Given the description of an element on the screen output the (x, y) to click on. 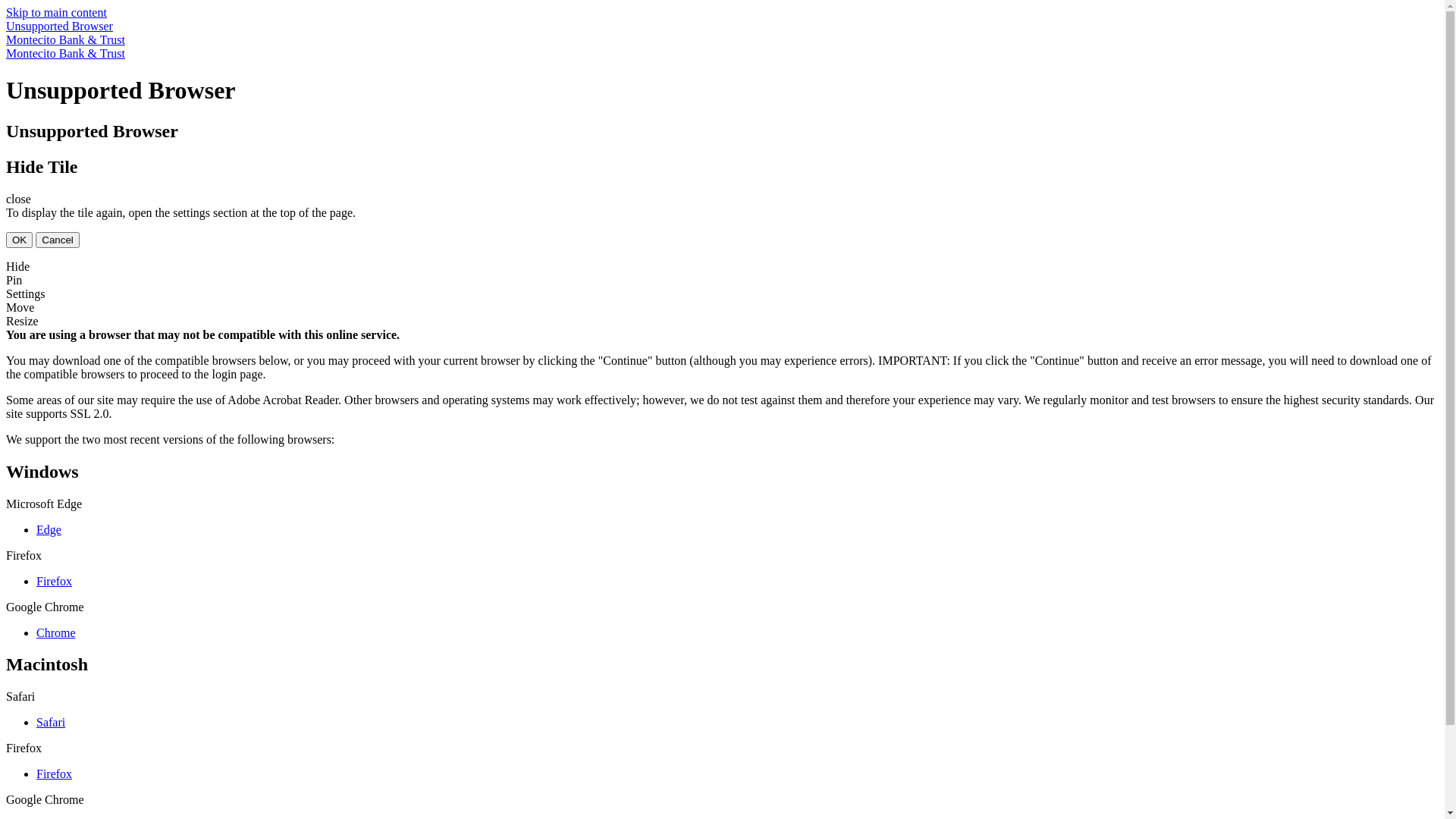
Firefox Element type: text (54, 580)
Montecito Bank & Trust Element type: text (722, 53)
Skip to main content Element type: text (56, 12)
Cancel Element type: text (57, 239)
Edge Element type: text (48, 529)
Unsupported Browser
Montecito Bank & Trust Element type: text (722, 33)
Safari Element type: text (50, 721)
Chrome Element type: text (55, 632)
OK Element type: text (19, 239)
Firefox Element type: text (54, 773)
Refresh Element type: text (23, 7)
